Given the description of an element on the screen output the (x, y) to click on. 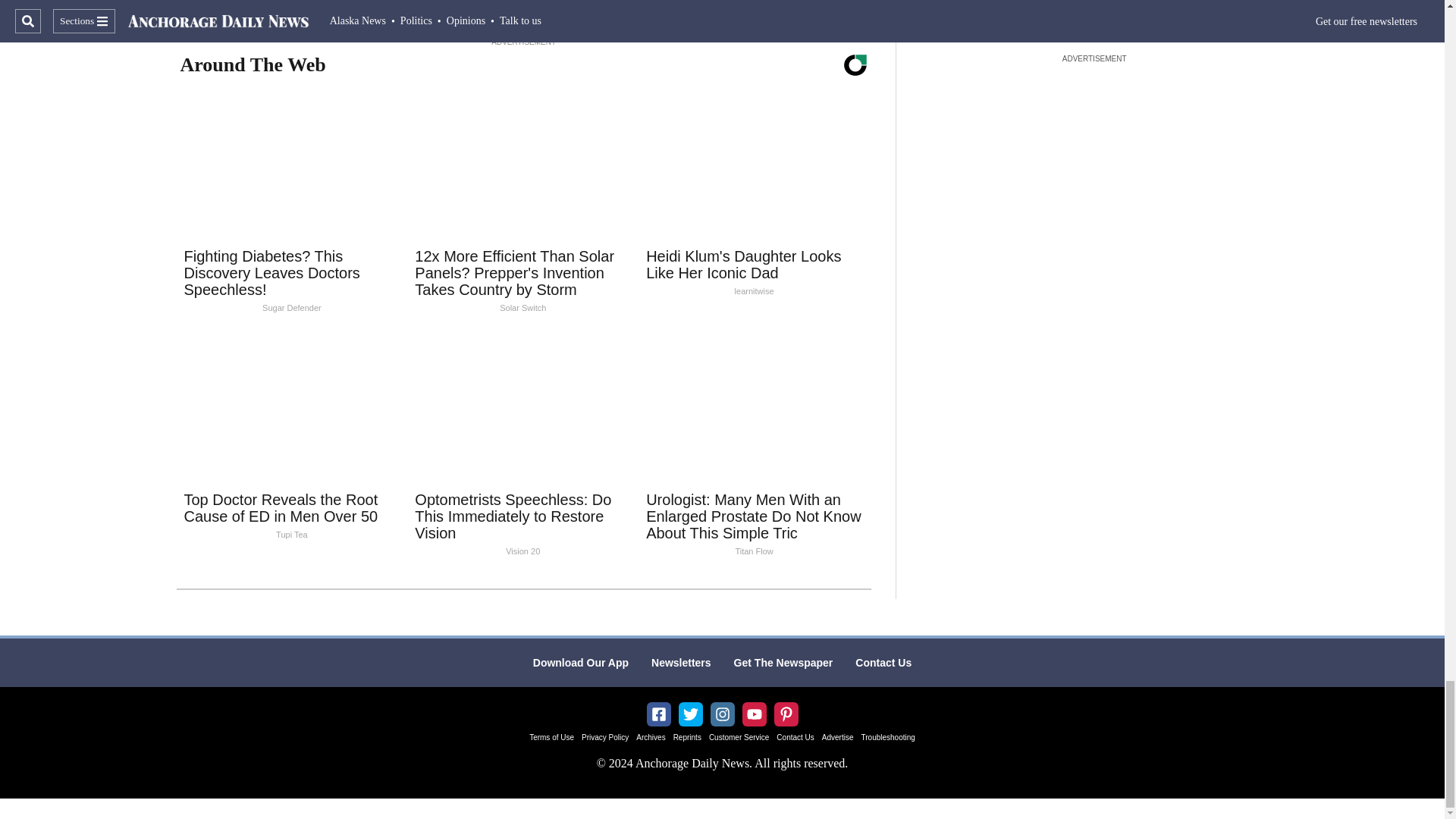
Twitter IconTwitter Account for Anchorage Daily News (689, 713)
Facebook IconAnchorage Daily News Facebook Page (657, 713)
YouTube iconAnchorage Daily News YouTube channel (753, 713)
Instagram IconAnchorage Daily News instagram account (721, 713)
PinterestAnchorage Daily News Pinterest Account (785, 713)
